Given the description of an element on the screen output the (x, y) to click on. 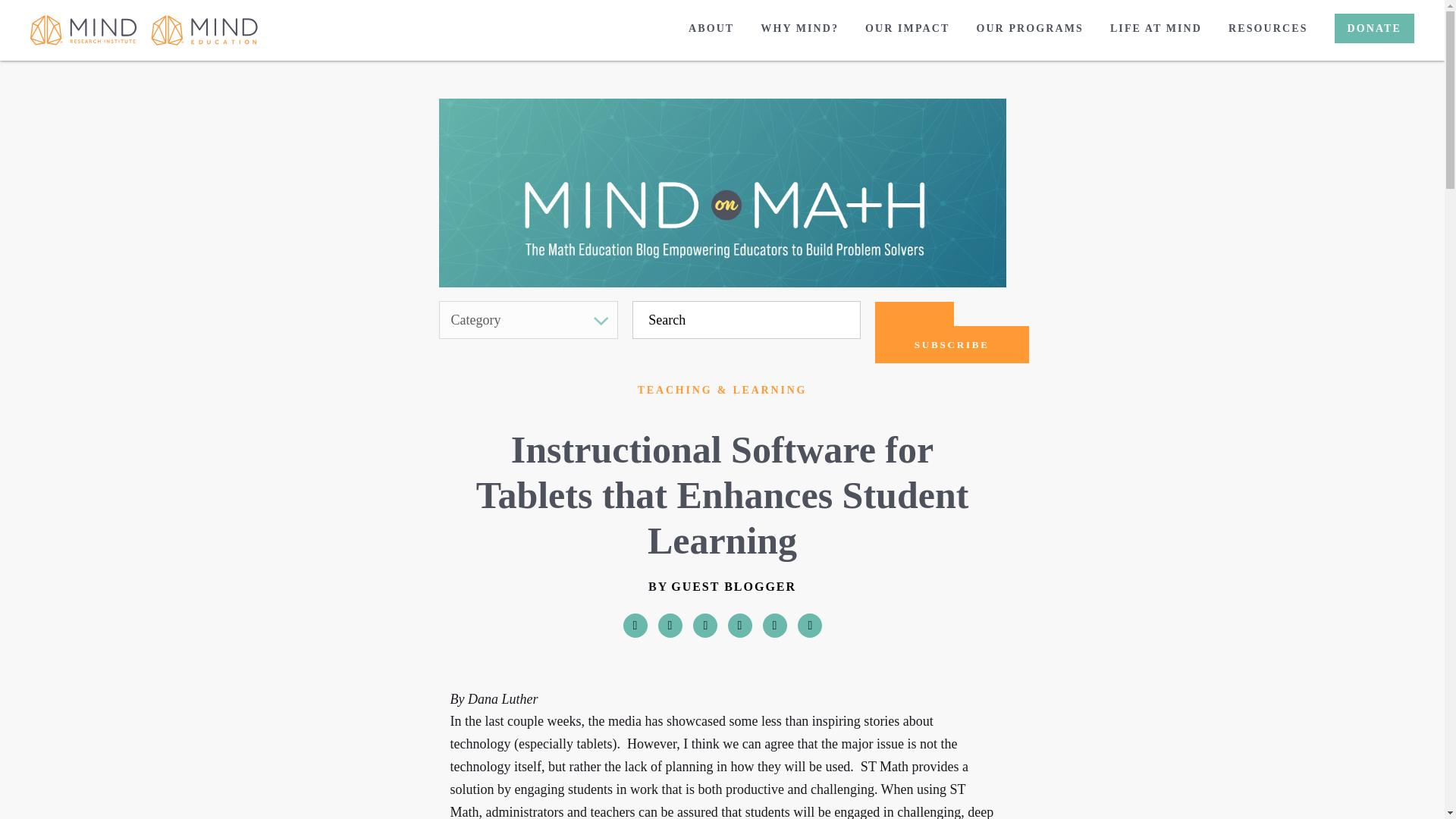
RSS Feed (809, 625)
DONATE (1374, 28)
SUBSCRIBE (952, 344)
LIFE AT MIND (1155, 28)
submit (841, 320)
Email (774, 625)
submit (841, 320)
RESOURCES (1267, 28)
Tweet (670, 625)
OUR PROGRAMS (1029, 28)
Subscribe (952, 344)
Subscribe (914, 313)
Share on Pinterest (705, 625)
Share on Facebook (635, 625)
ABOUT (710, 28)
